Given the description of an element on the screen output the (x, y) to click on. 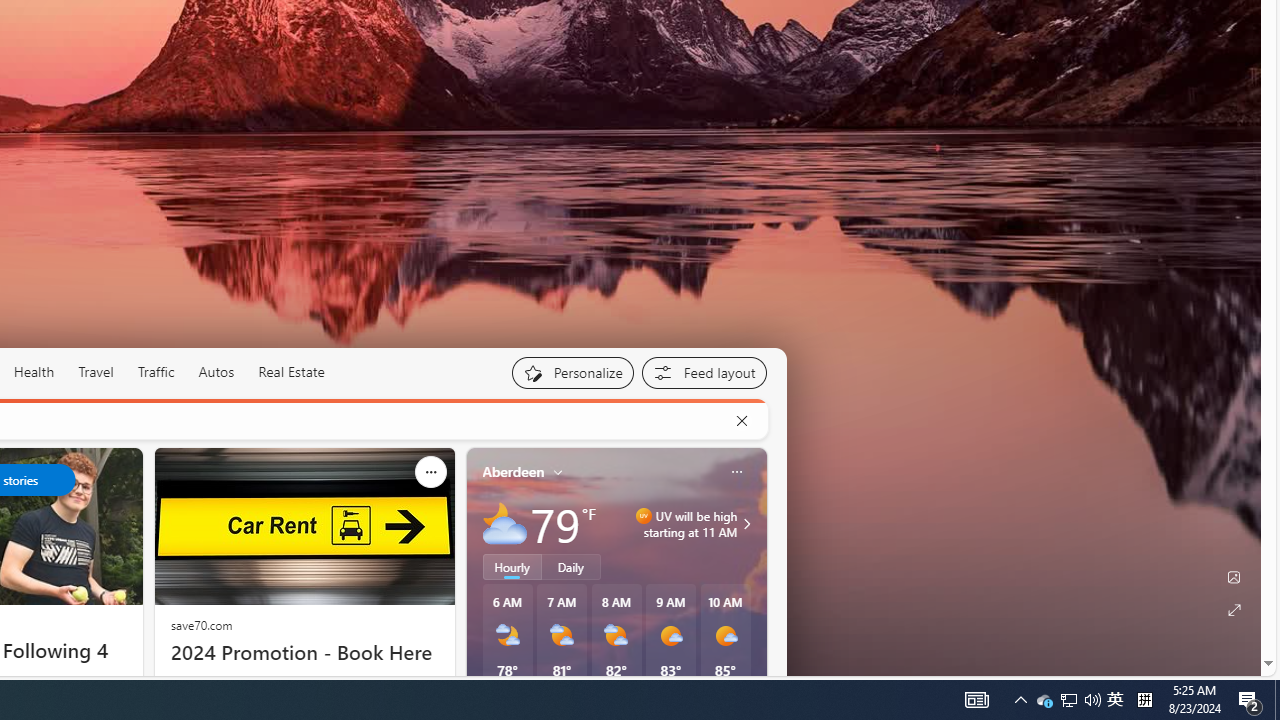
Autos (216, 372)
save70.com (201, 624)
Daily (571, 566)
Class: weather-arrow-glyph (746, 523)
Aberdeen (513, 471)
